Given the description of an element on the screen output the (x, y) to click on. 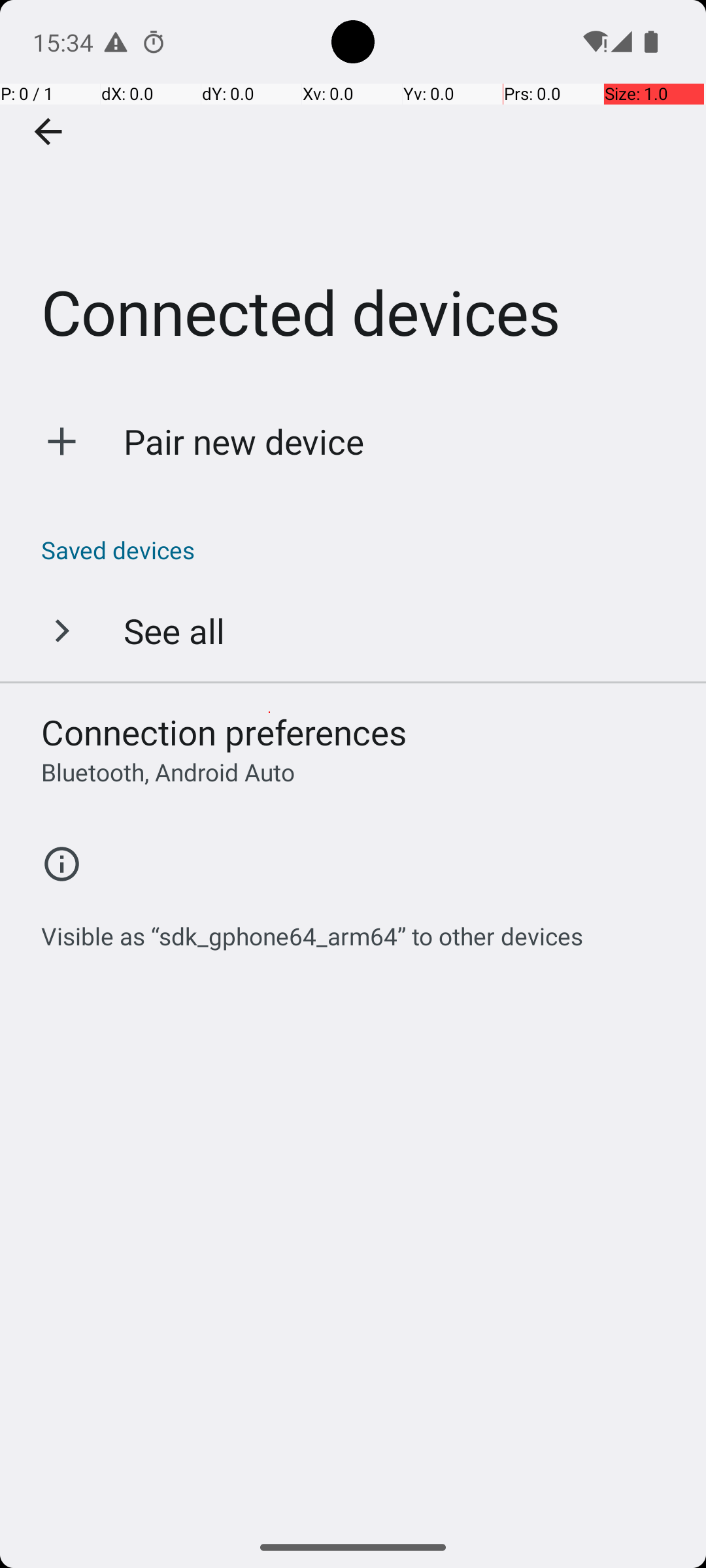
Connected devices Element type: android.widget.FrameLayout (353, 195)
Pair new device Element type: android.widget.TextView (243, 441)
Saved devices Element type: android.widget.TextView (359, 549)
See all Element type: android.widget.TextView (173, 630)
Connection preferences Element type: android.widget.TextView (224, 731)
Bluetooth, Android Auto Element type: android.widget.TextView (167, 771)
Visible as “sdk_gphone64_arm64” to other devices Element type: android.widget.TextView (312, 928)
Android System notification:  Element type: android.widget.ImageView (115, 41)
